Given the description of an element on the screen output the (x, y) to click on. 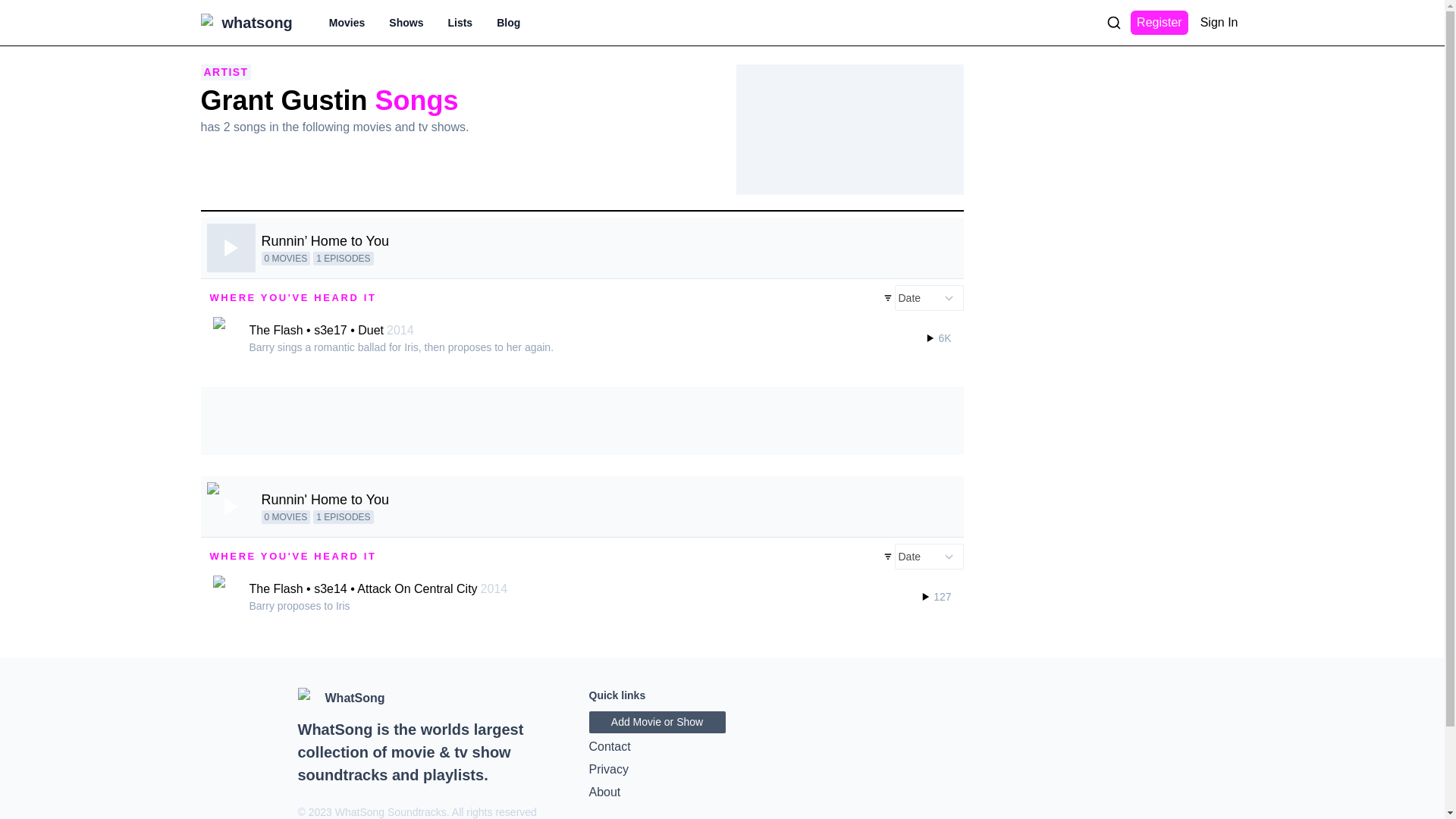
Sign In (1218, 22)
About (722, 791)
Blog (507, 23)
Runnin' Home to You (324, 499)
Contact (722, 746)
whatsong (256, 22)
Add Movie or Show (656, 722)
Privacy (722, 769)
Register (1159, 22)
